Given the description of an element on the screen output the (x, y) to click on. 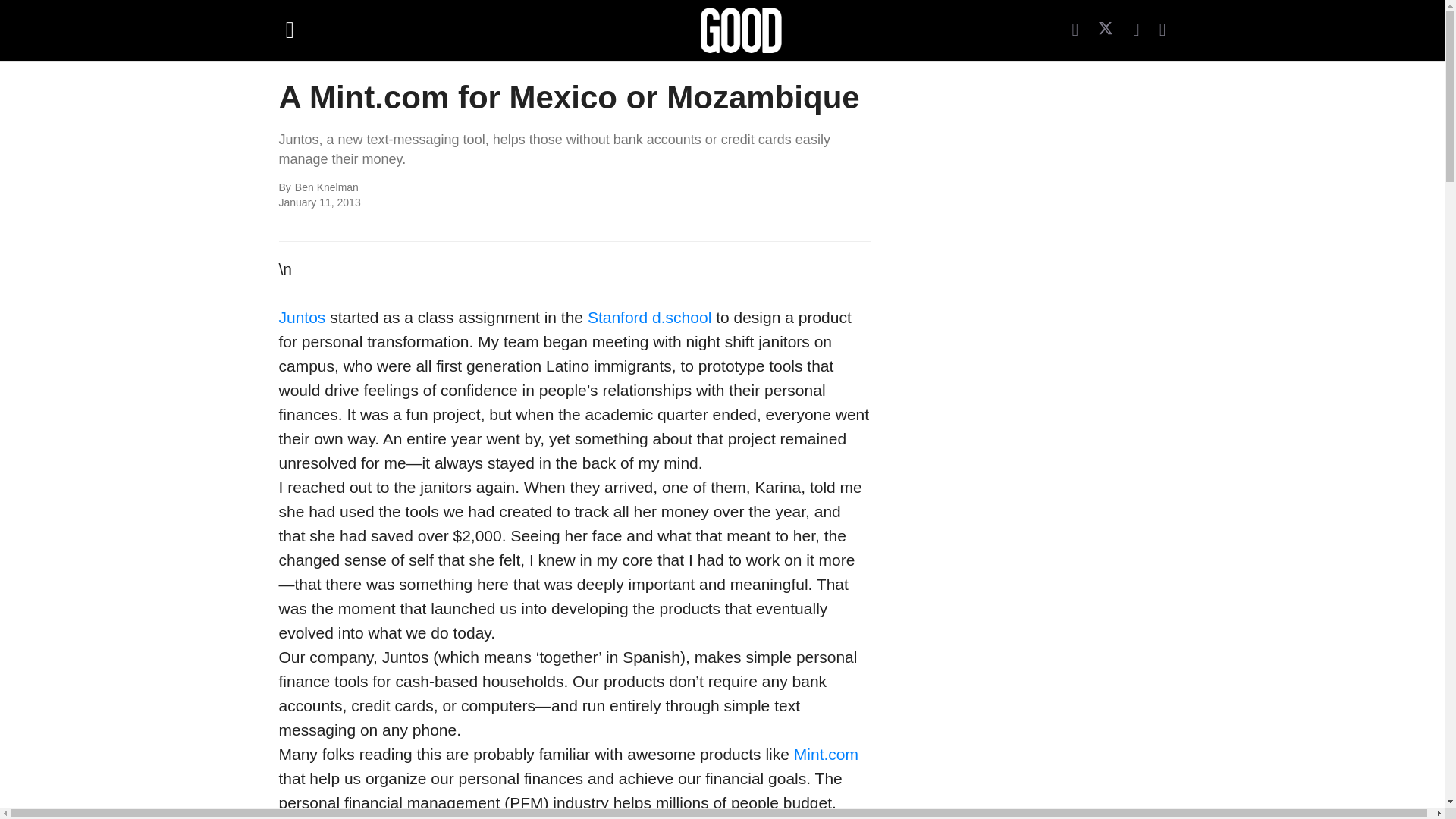
Juntos (302, 316)
Mint.com (826, 753)
Stanford d.school (649, 316)
Ben Knelman (459, 187)
